Given the description of an element on the screen output the (x, y) to click on. 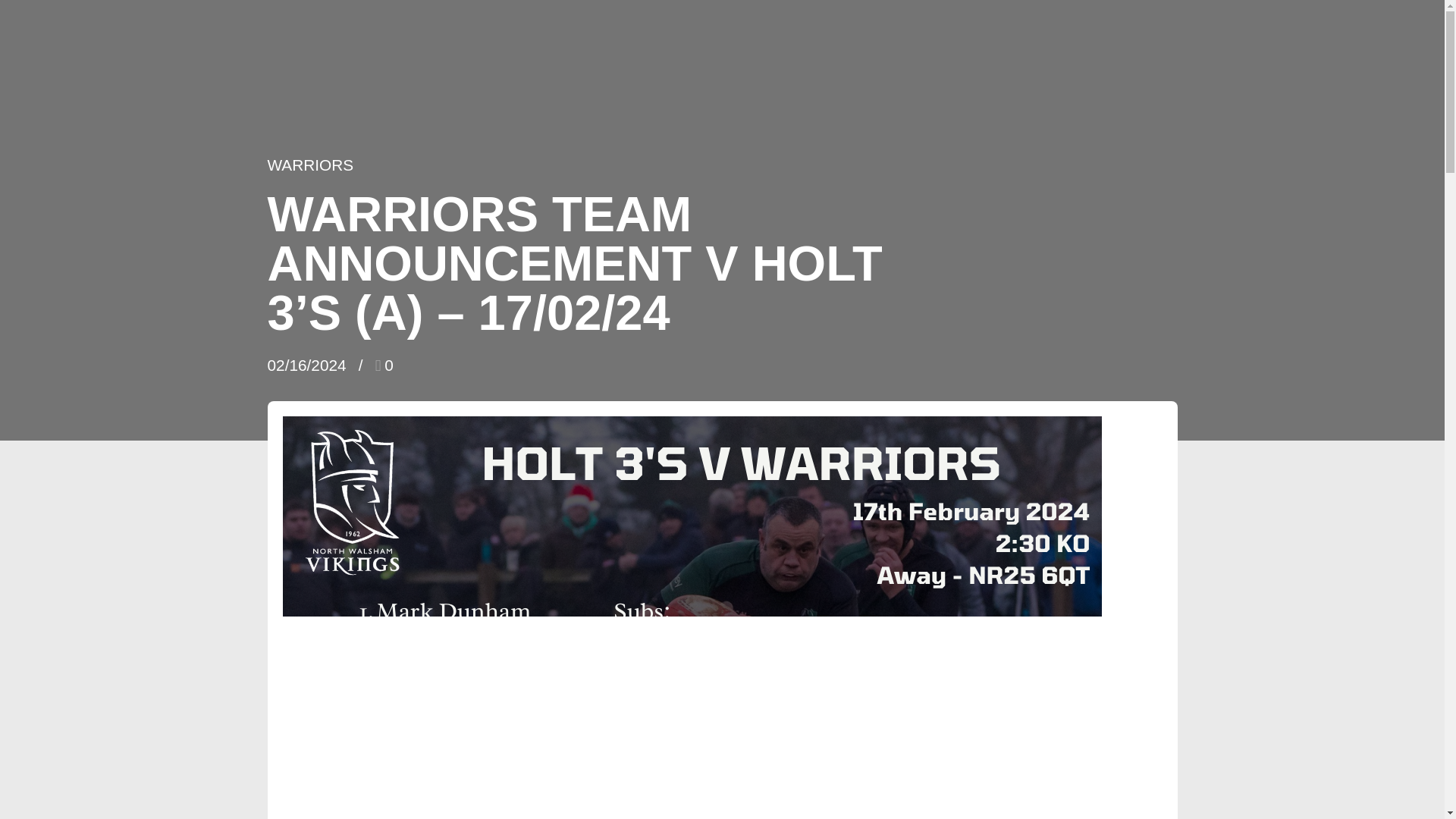
WARRIORS (309, 164)
0 (384, 364)
